Given the description of an element on the screen output the (x, y) to click on. 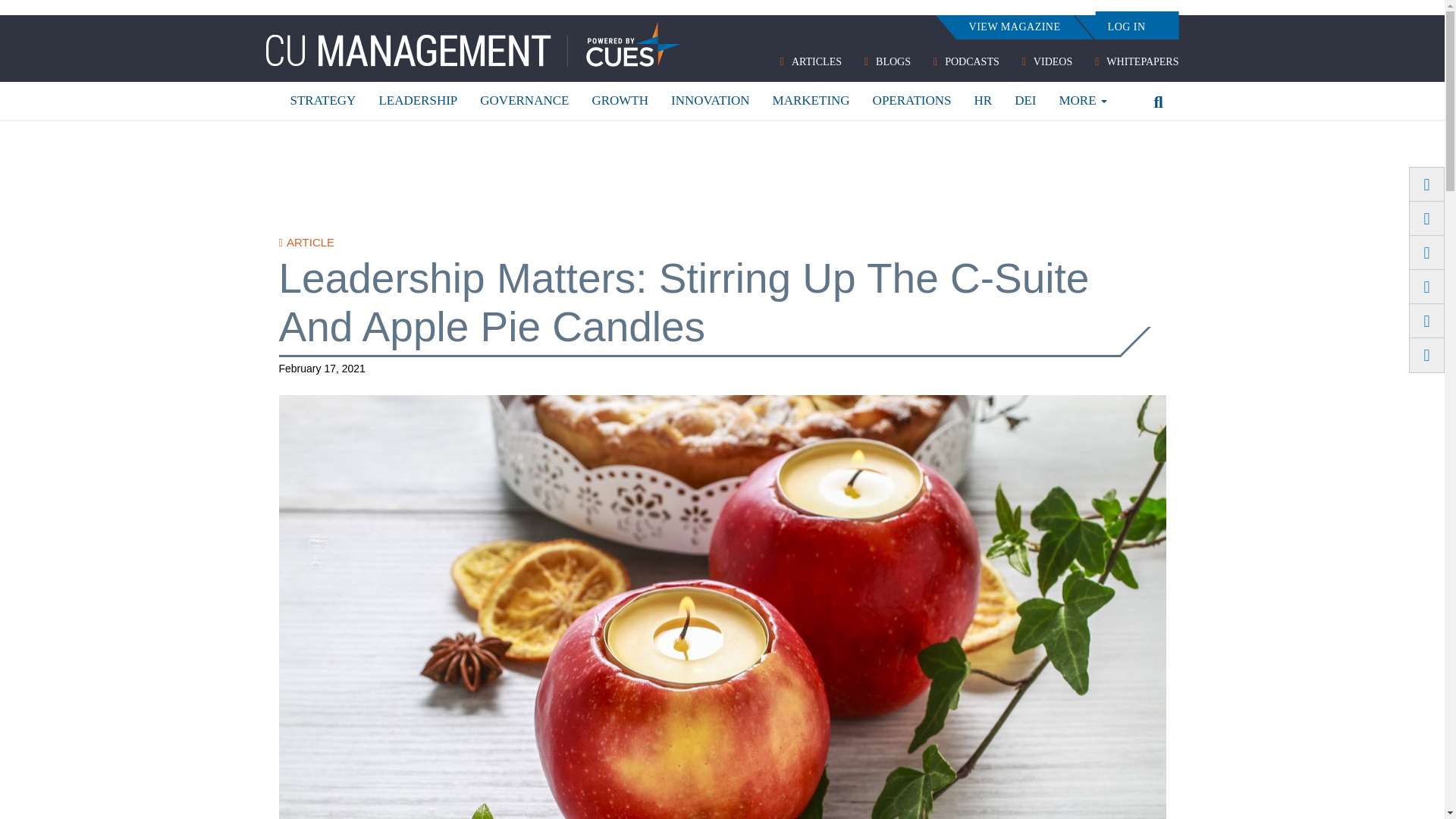
PODCASTS (965, 61)
BLOGS (887, 61)
STRATEGY (323, 100)
GOVERNANCE (523, 100)
ARTICLES (810, 61)
3rd party ad content (722, 174)
LOG IN (1126, 27)
LEADERSHIP (417, 100)
WHITEPAPERS (1135, 61)
VIDEOS (1046, 61)
More content topics from CU Management (1082, 100)
VIEW MAGAZINE (1013, 27)
